Given the description of an element on the screen output the (x, y) to click on. 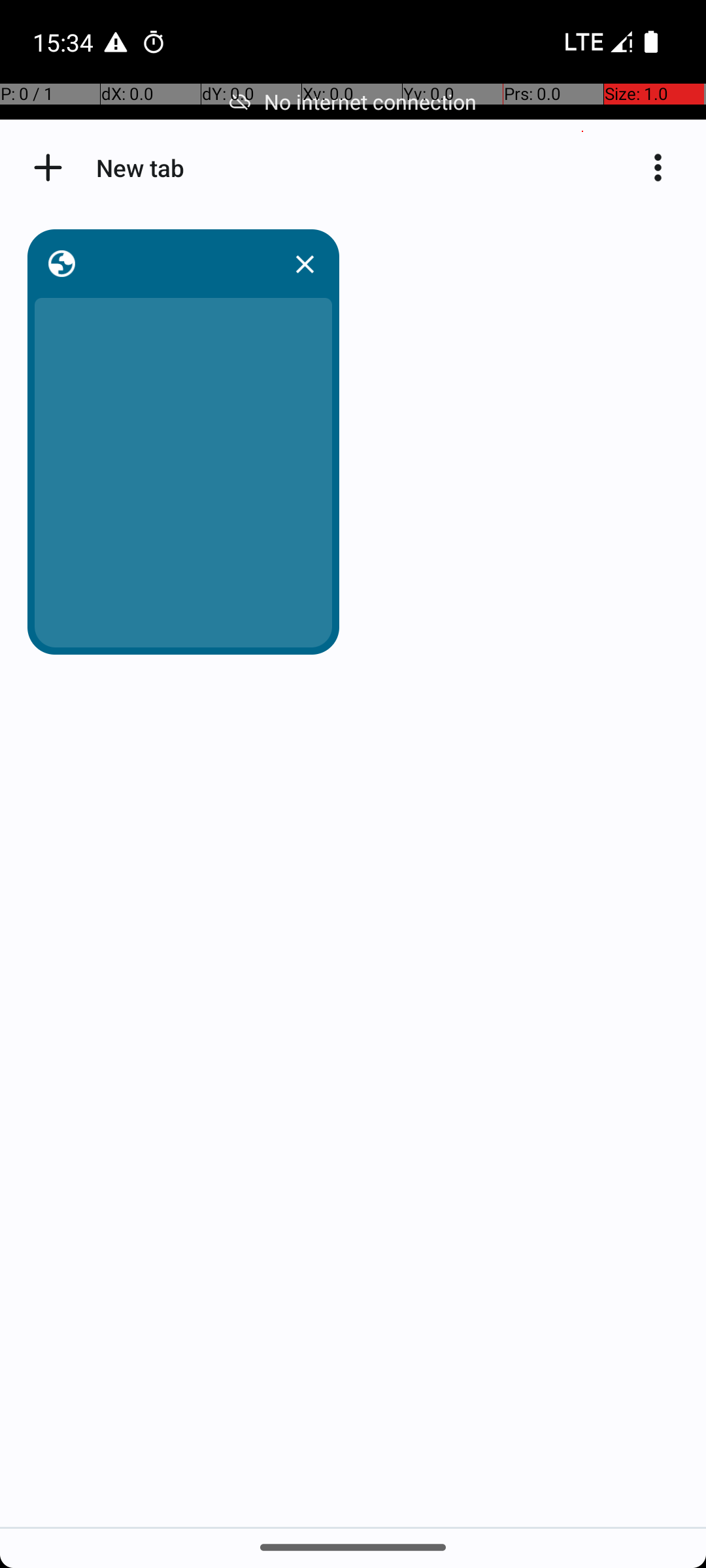
No internet connection Element type: android.widget.TextView (352, 101)
, tab Element type: android.widget.TextView (179, 263)
Close  tab Element type: android.widget.ImageView (304, 263)
New tab Element type: android.widget.ImageView (48, 167)
